Given the description of an element on the screen output the (x, y) to click on. 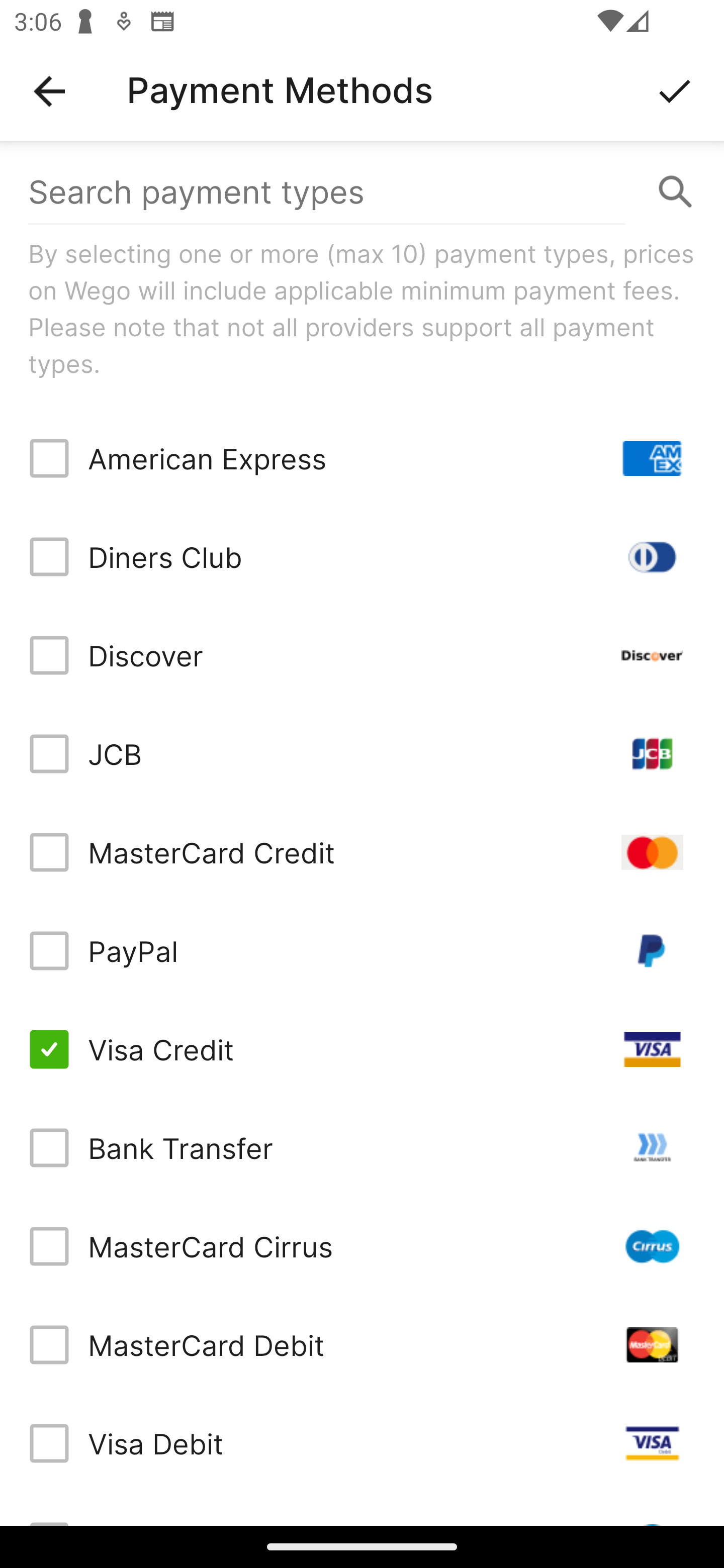
Search payment types  (361, 191)
American Express (362, 458)
Diners Club (362, 557)
Discover (362, 655)
JCB (362, 753)
MasterCard Credit (362, 851)
PayPal (362, 950)
Visa Credit (362, 1049)
Bank Transfer (362, 1147)
MasterCard Cirrus (362, 1245)
MasterCard Debit (362, 1344)
Visa Debit (362, 1442)
